Given the description of an element on the screen output the (x, y) to click on. 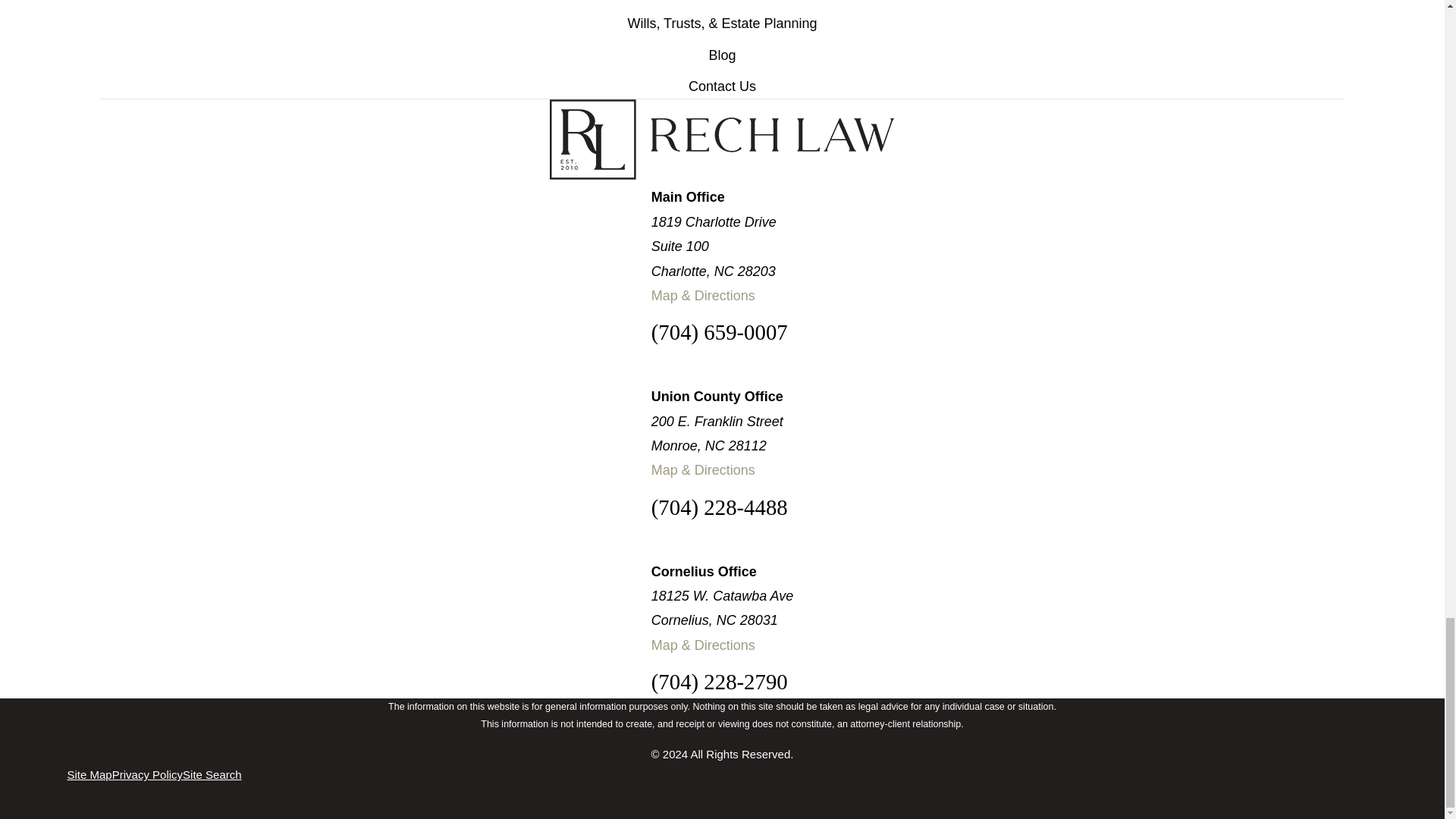
Home (721, 139)
